Given the description of an element on the screen output the (x, y) to click on. 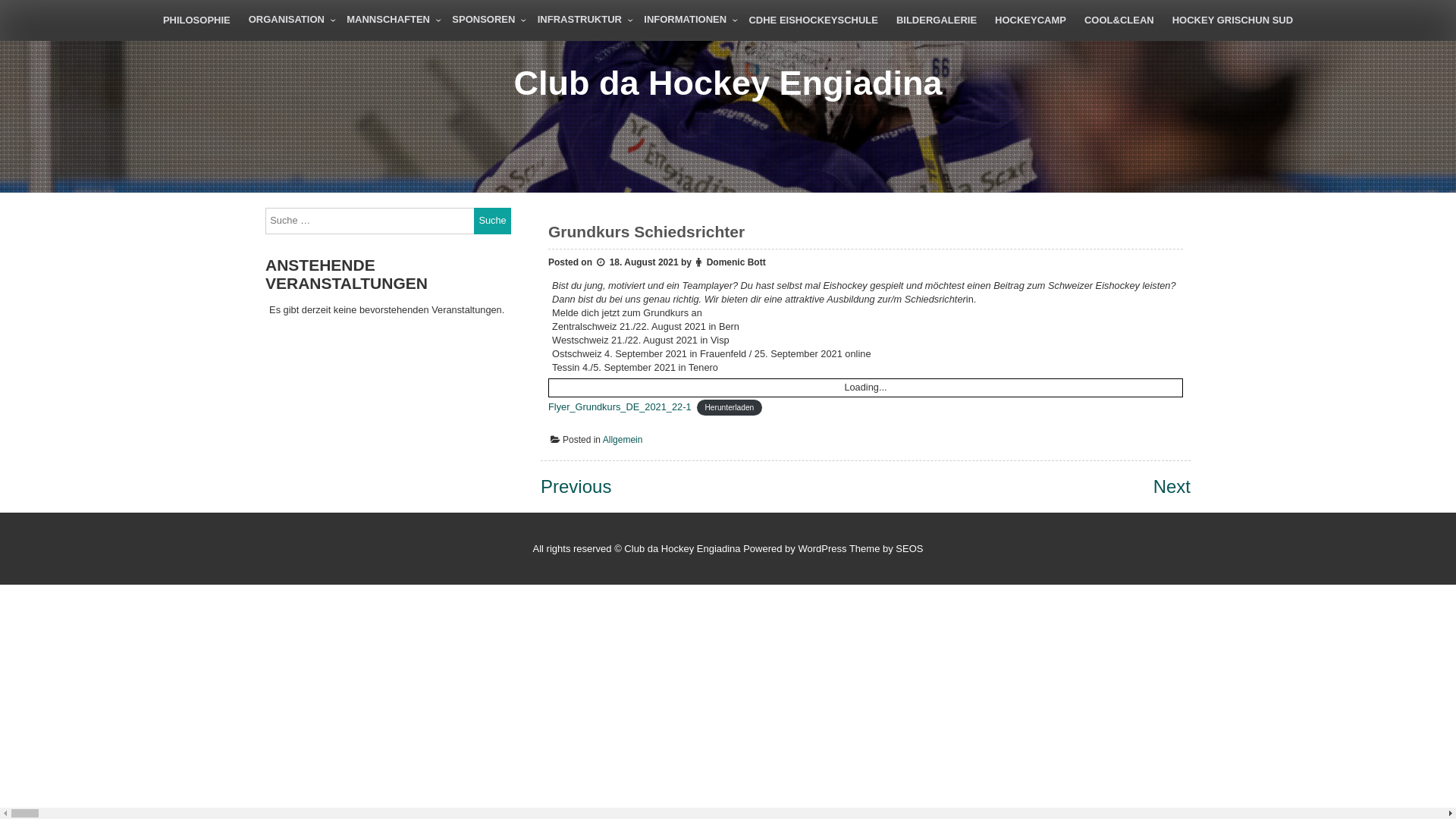
ORGANISATION Element type: text (288, 20)
Herunterladen Element type: text (728, 407)
Powered by WordPress Element type: text (794, 548)
CDHE EISHOCKEYSCHULE Element type: text (812, 19)
Theme by SEOS Element type: text (886, 548)
INFRASTRUKTUR Element type: text (581, 20)
SPONSOREN Element type: text (484, 20)
Suche Element type: text (492, 220)
MANNSCHAFTEN Element type: text (389, 20)
COOL&CLEAN Element type: text (1119, 19)
PHILOSOPHIE Element type: text (196, 19)
Allgemein Element type: text (622, 439)
Domenic Bott Element type: text (735, 262)
Club da Hockey Engiadina Element type: text (727, 82)
Flyer_Grundkurs_DE_2021_22-1 Element type: text (619, 406)
HOCKEY GRISCHUN SUD Element type: text (1232, 19)
18. August 2021 Element type: text (635, 262)
BILDERGALERIE Element type: text (936, 19)
INFORMATIONEN Element type: text (686, 20)
HOCKEYCAMP Element type: text (1030, 19)
